Given the description of an element on the screen output the (x, y) to click on. 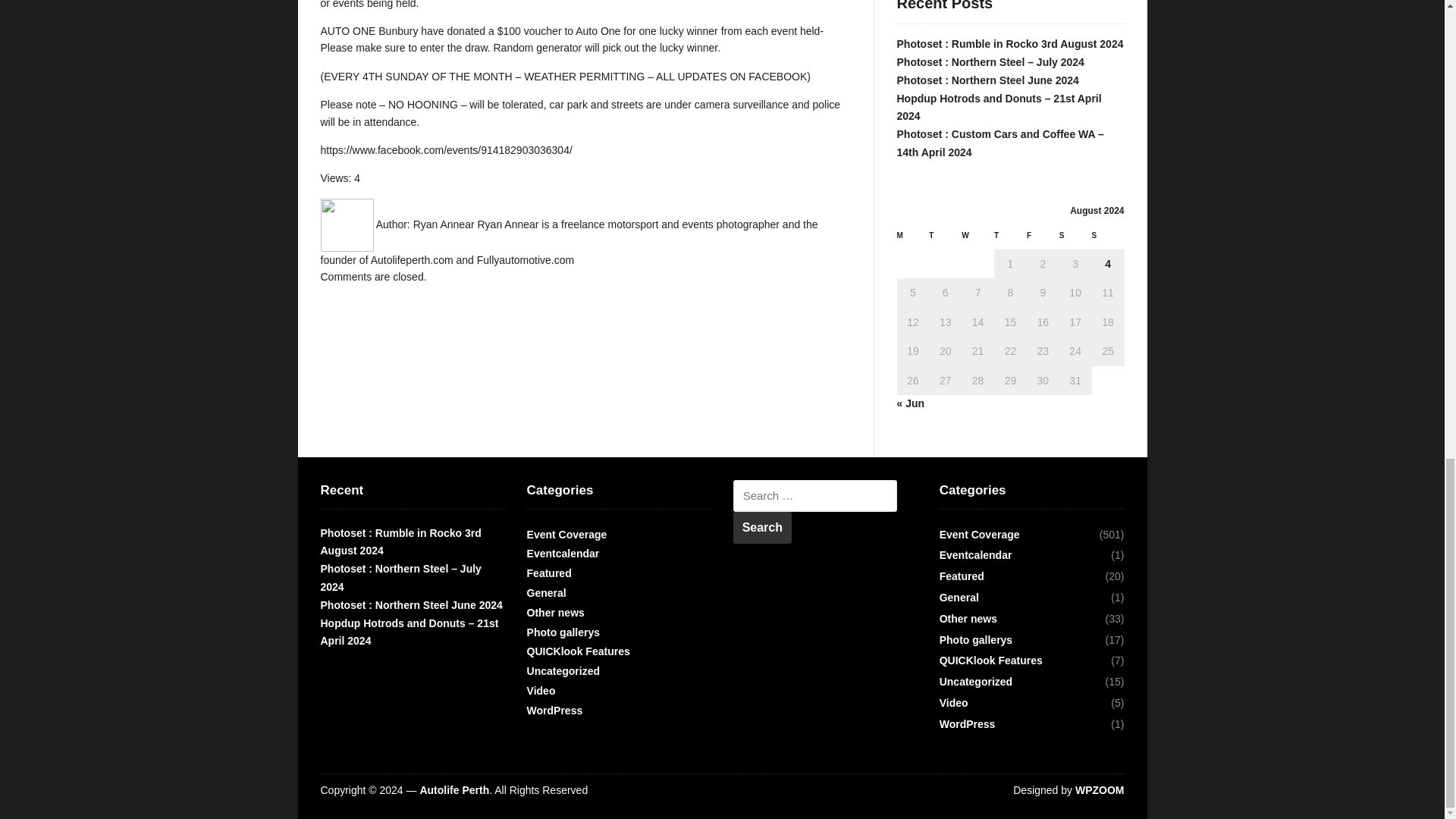
Search (762, 527)
Search (762, 527)
Search for: (814, 495)
Tuesday (944, 239)
Wednesday (977, 239)
Monday (912, 239)
Saturday (1075, 239)
Sunday (1108, 239)
Ryan Annear (443, 223)
Friday (1042, 239)
